Given the description of an element on the screen output the (x, y) to click on. 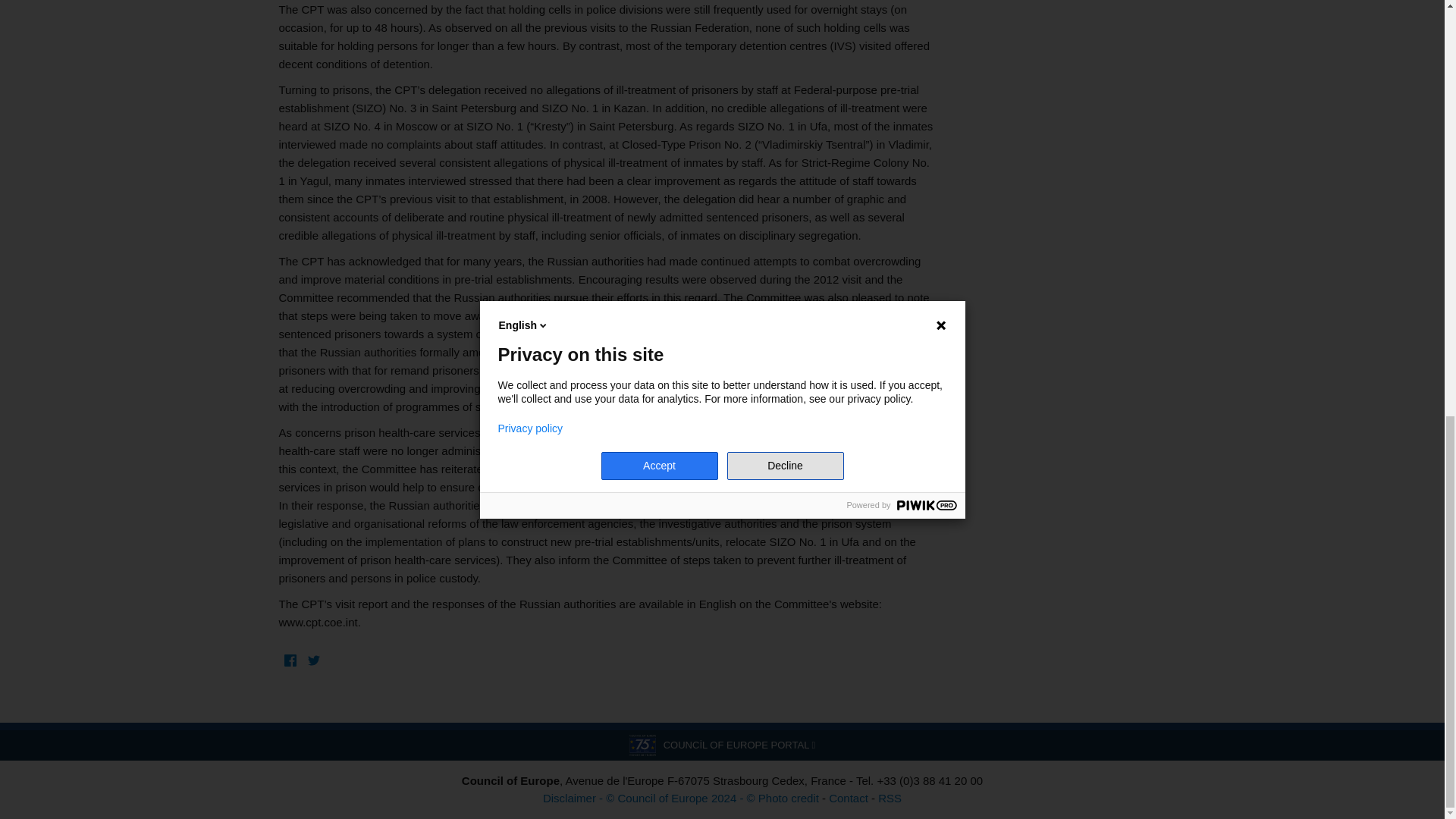
Facebook (290, 661)
